Given the description of an element on the screen output the (x, y) to click on. 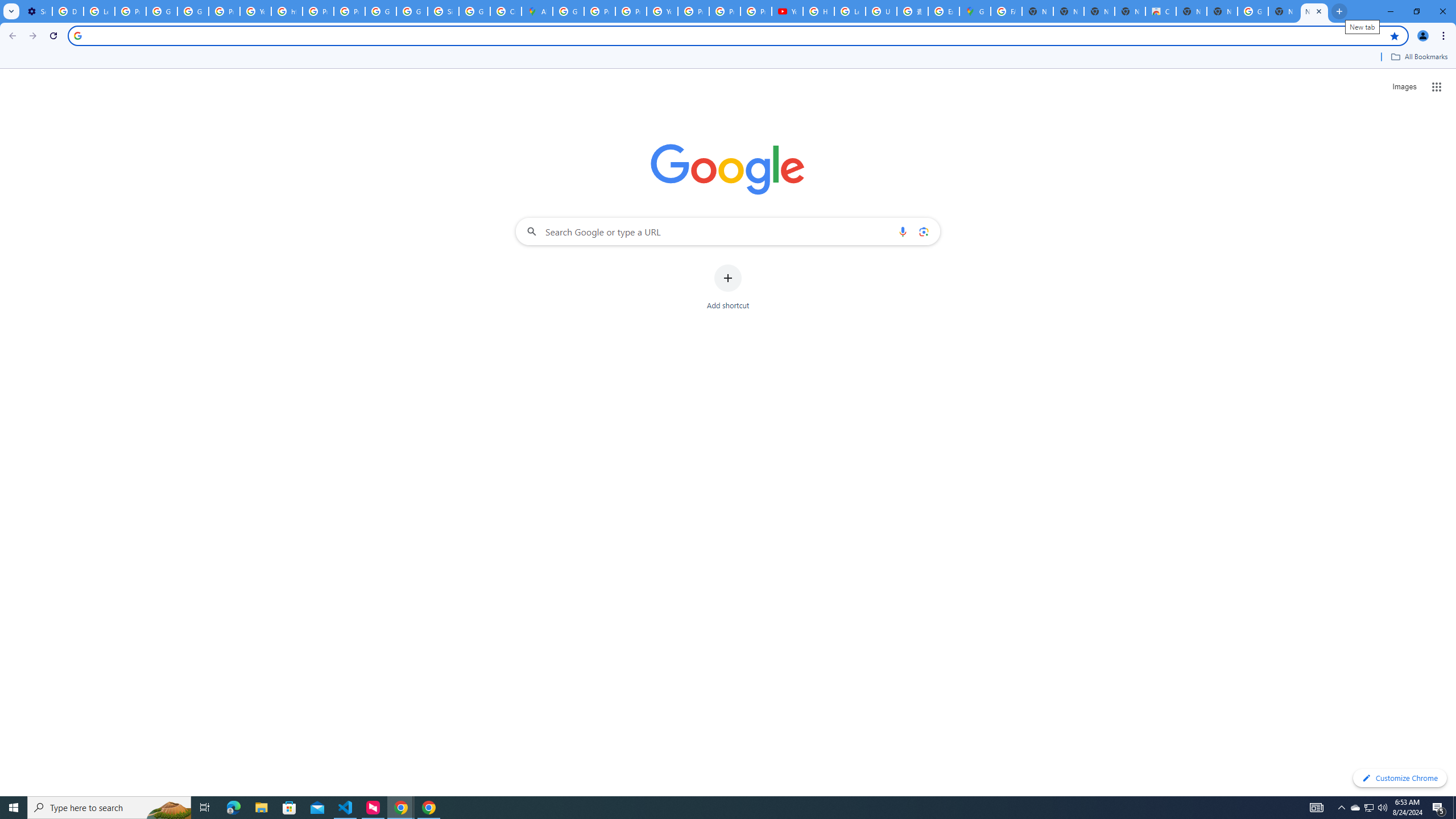
YouTube (255, 11)
